Given the description of an element on the screen output the (x, y) to click on. 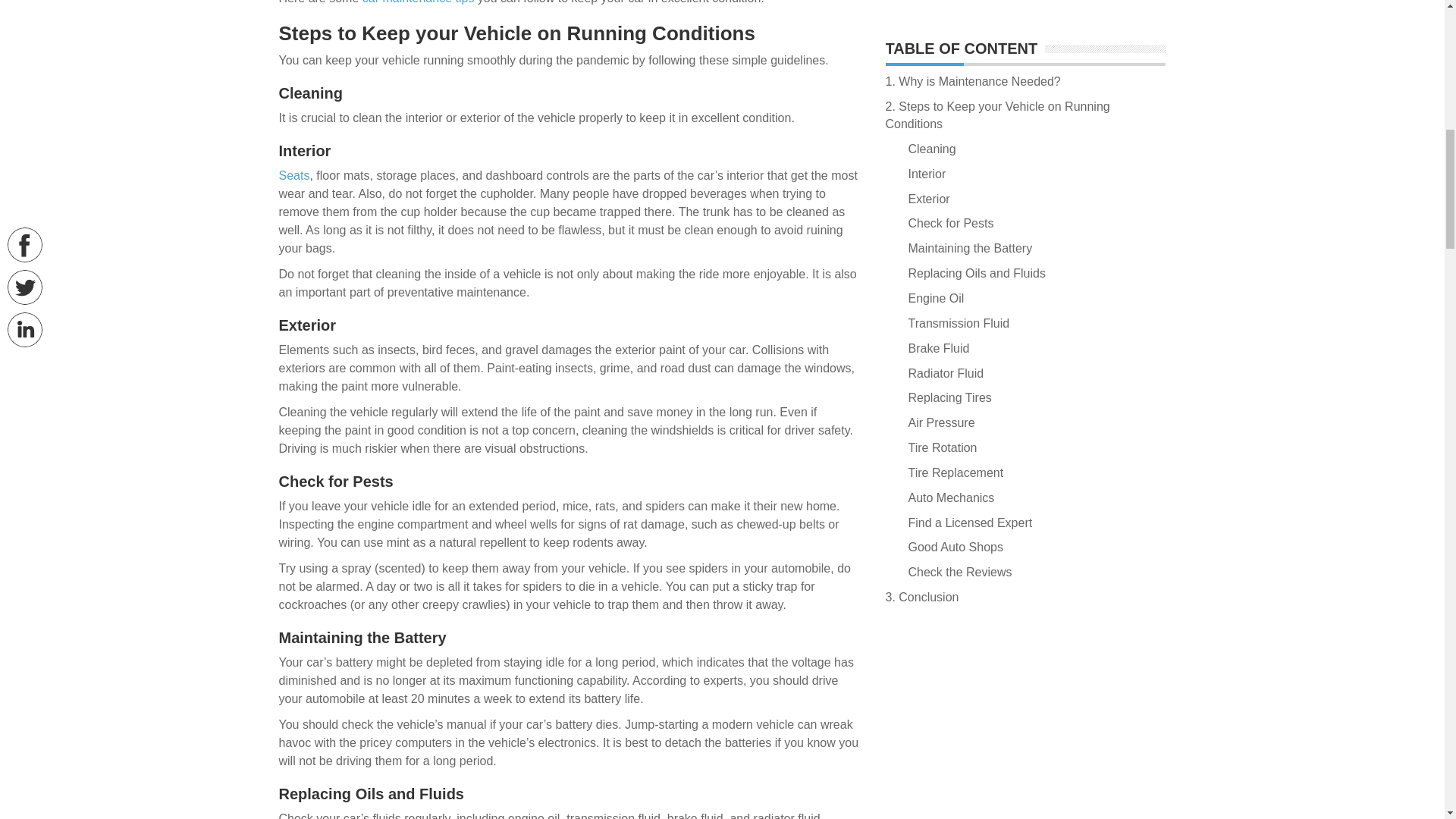
car maintenance tips (418, 2)
Seats (294, 174)
